Given the description of an element on the screen output the (x, y) to click on. 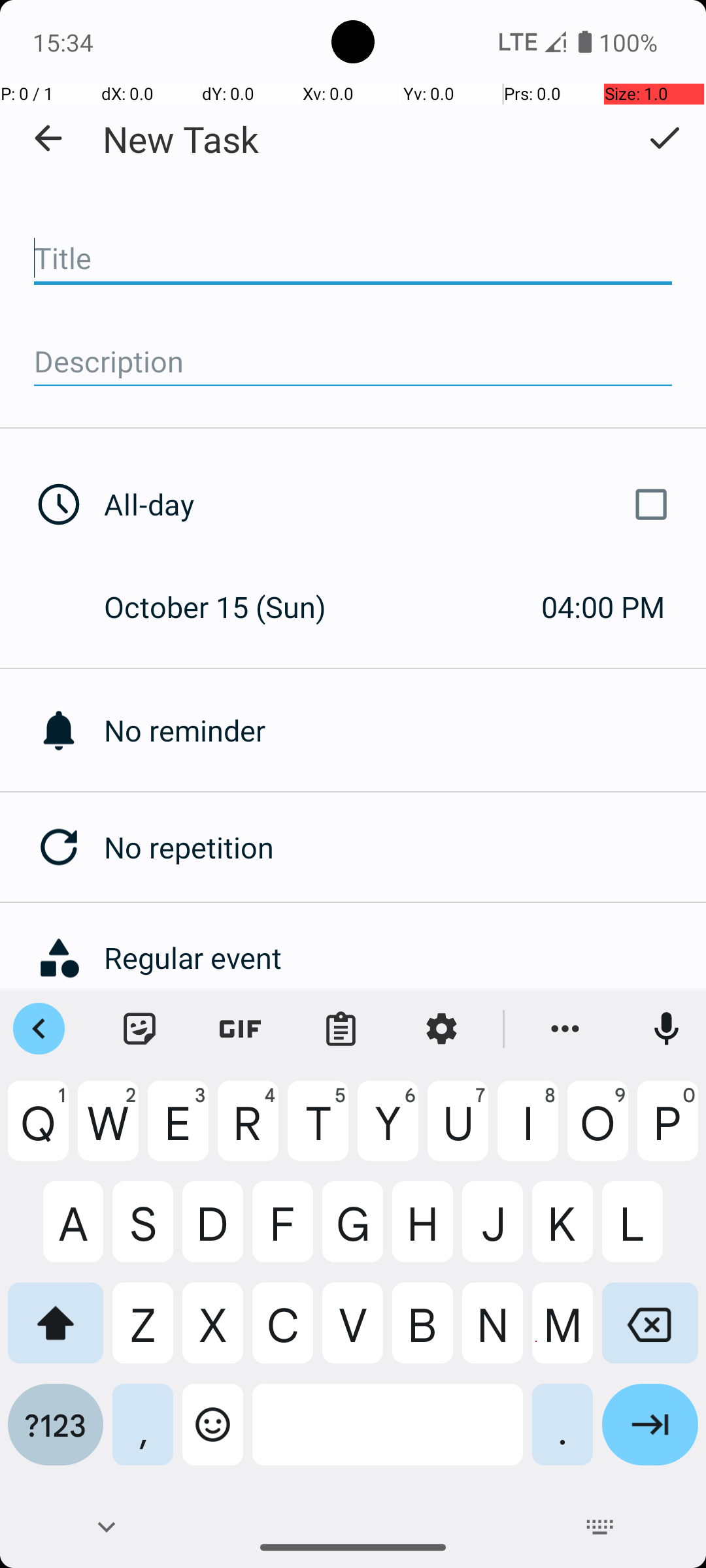
New Task Element type: android.widget.TextView (180, 138)
04:00 PM Element type: android.widget.TextView (602, 606)
